Given the description of an element on the screen output the (x, y) to click on. 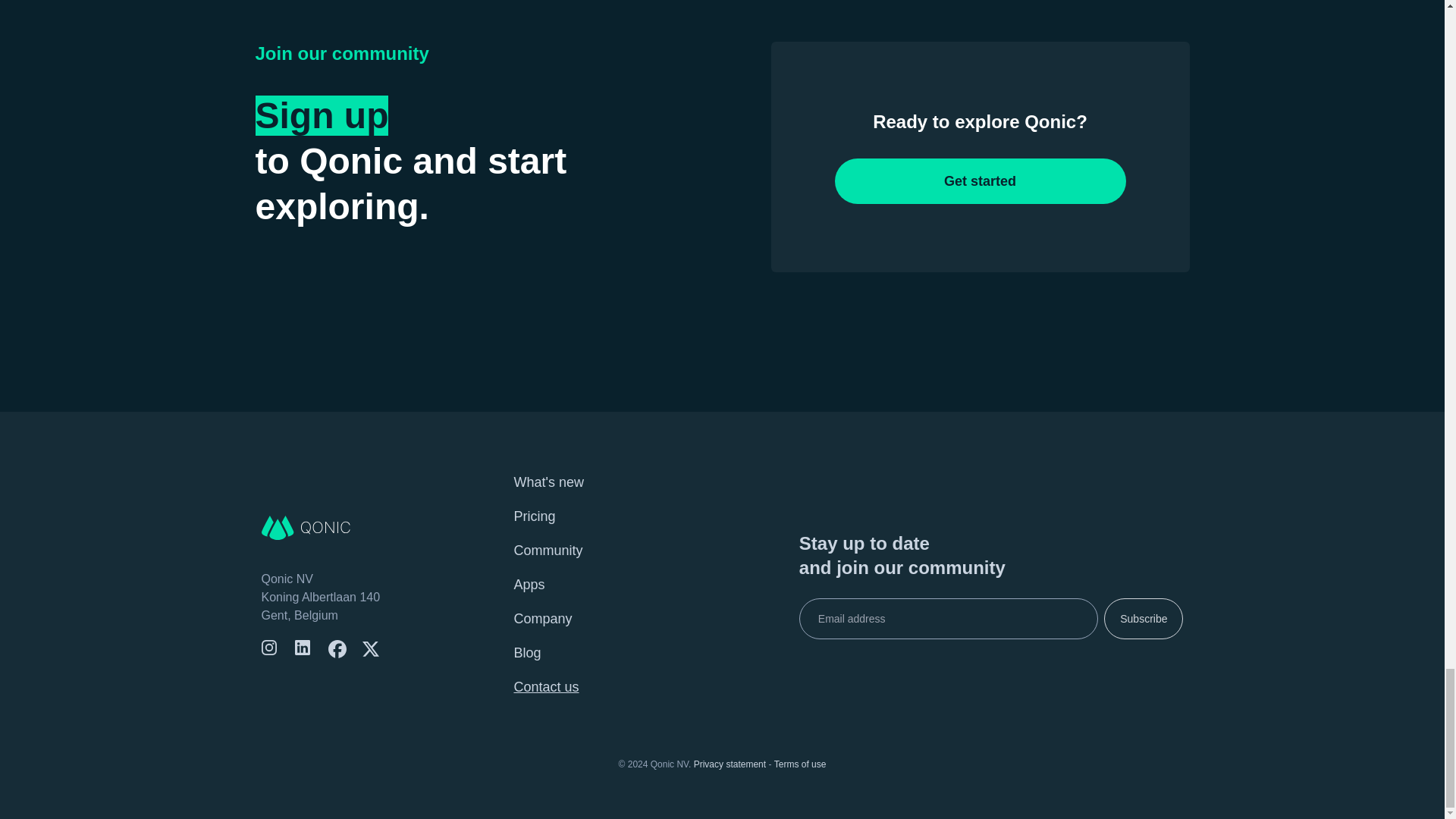
Subscribe (1142, 618)
Terms of use (800, 764)
Community (547, 549)
Apps (528, 584)
Company (542, 618)
What's new (548, 482)
Pricing (533, 516)
Get started (979, 180)
Contact us (545, 686)
Blog (526, 652)
